Given the description of an element on the screen output the (x, y) to click on. 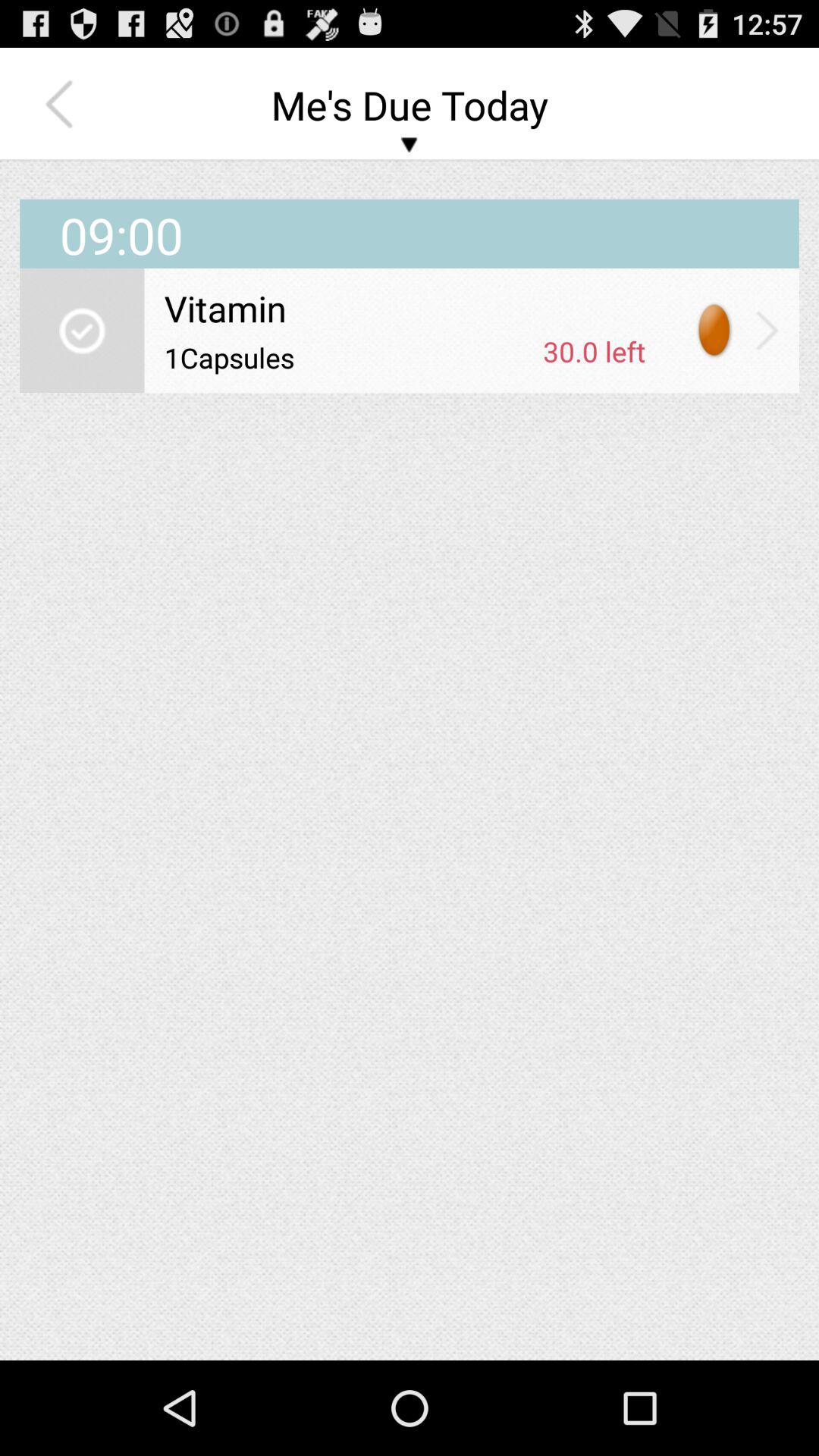
turn off app above 30.0 left (404, 308)
